Given the description of an element on the screen output the (x, y) to click on. 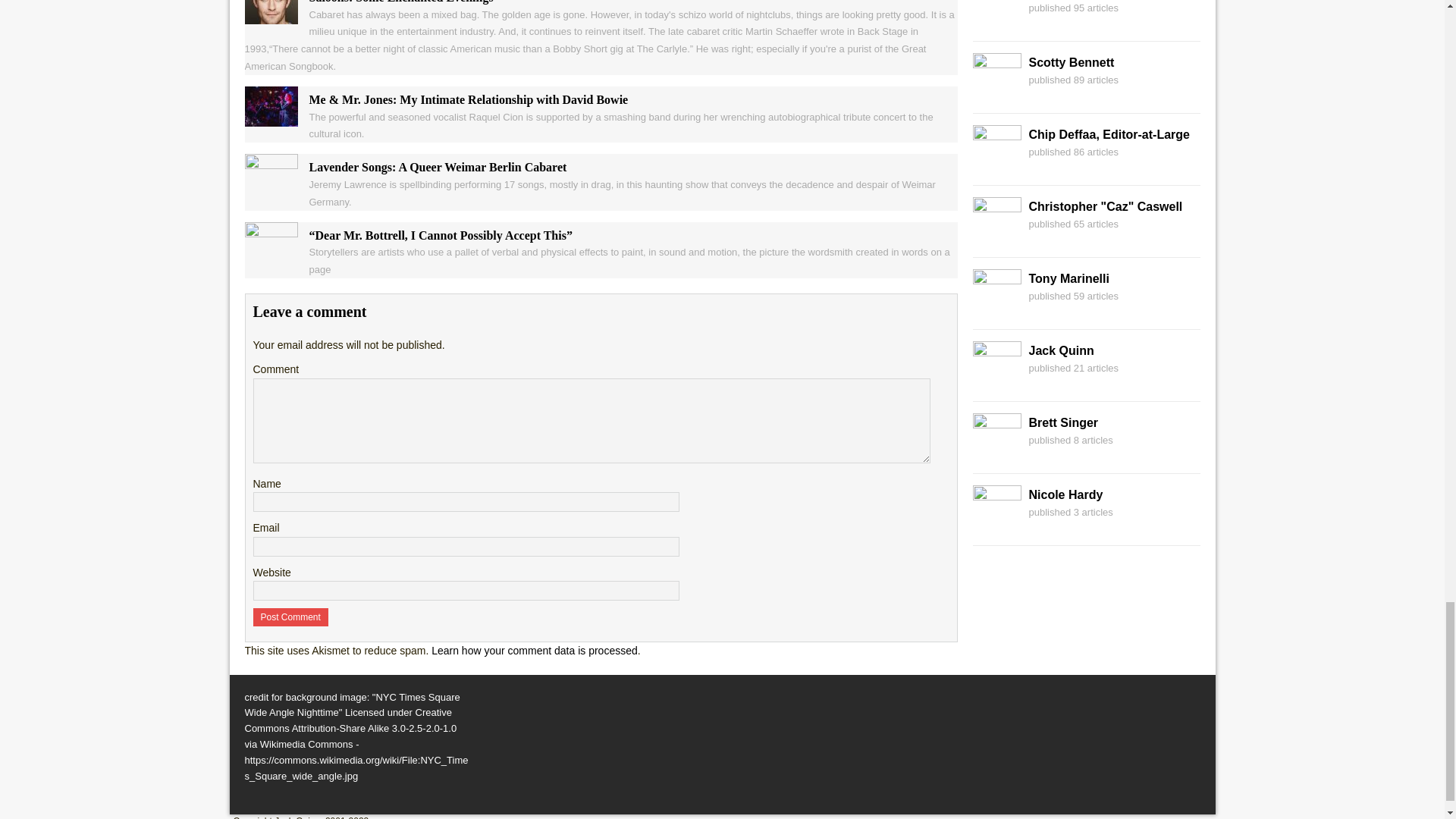
Post Comment (291, 617)
Lavender Songs: A Queer Weimar Berlin Cabaret (270, 185)
Saloons: Some Enchanted Evenings (270, 15)
